Given the description of an element on the screen output the (x, y) to click on. 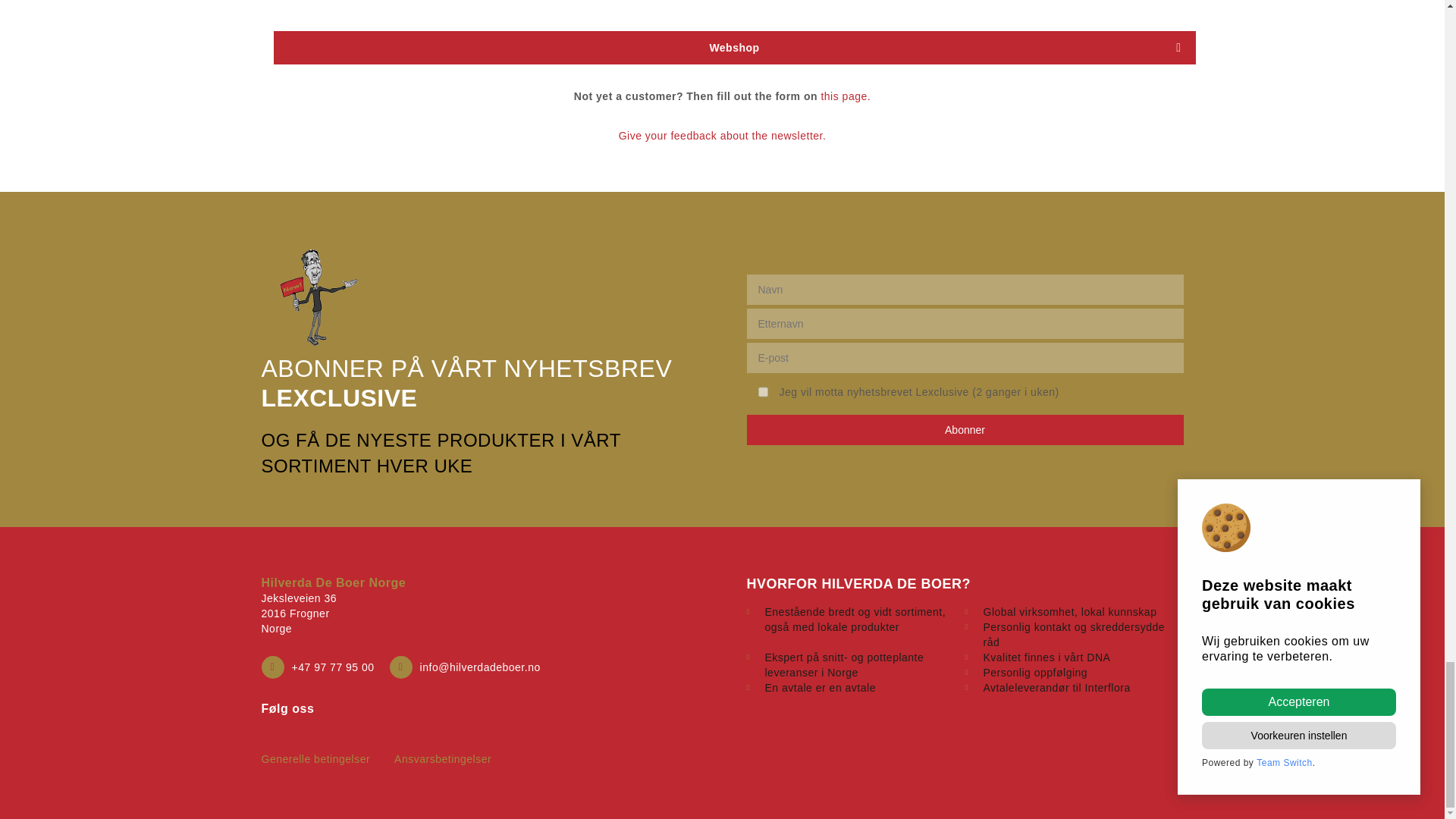
Give your feedback about the newsletter. (722, 135)
Webshop (734, 47)
Abonner (963, 429)
Abonner (963, 429)
this page. (845, 96)
